Given the description of an element on the screen output the (x, y) to click on. 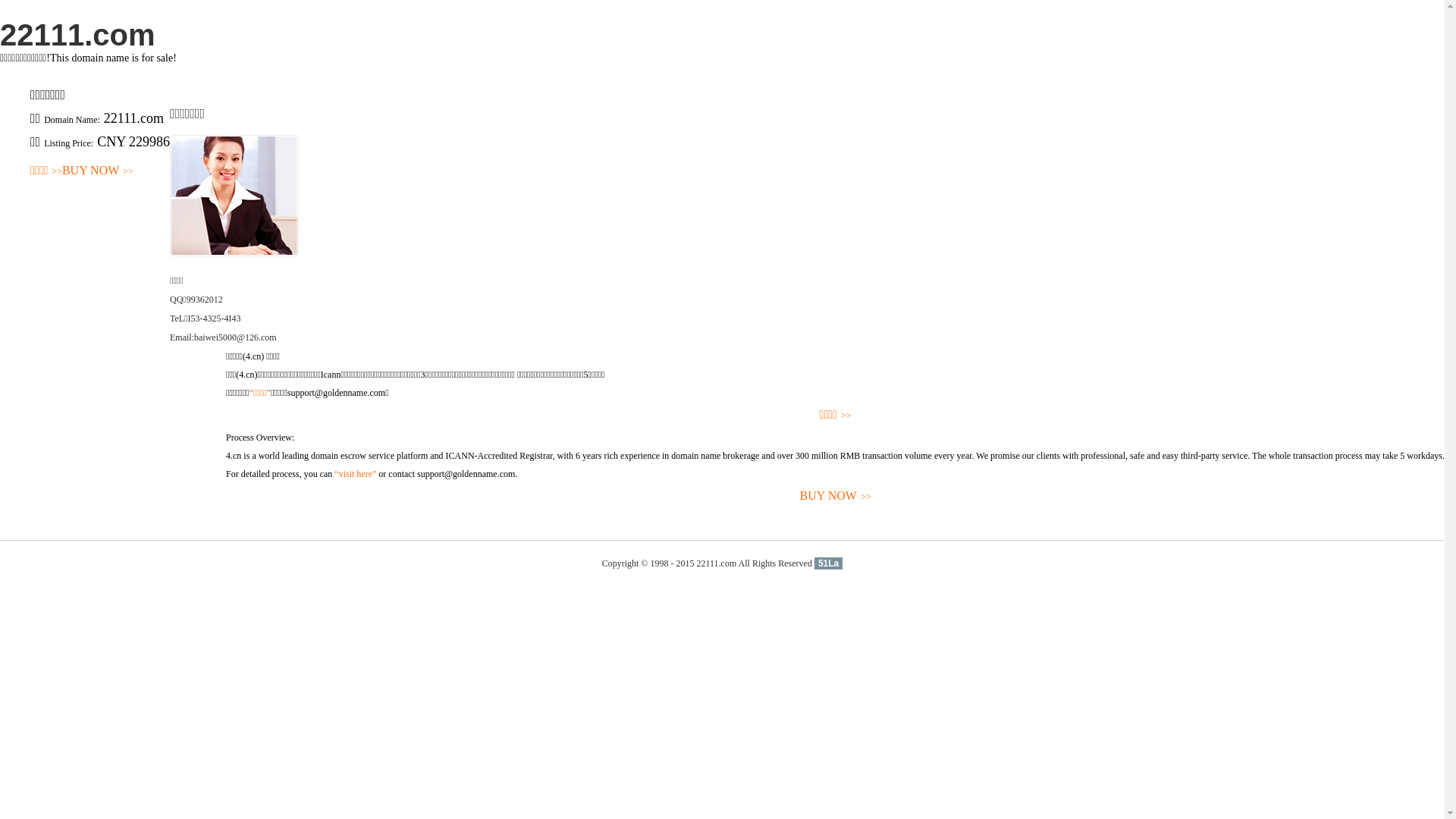
BUY NOW>> Element type: text (834, 496)
BUY NOW>> Element type: text (97, 170)
51La Element type: text (828, 563)
